Given the description of an element on the screen output the (x, y) to click on. 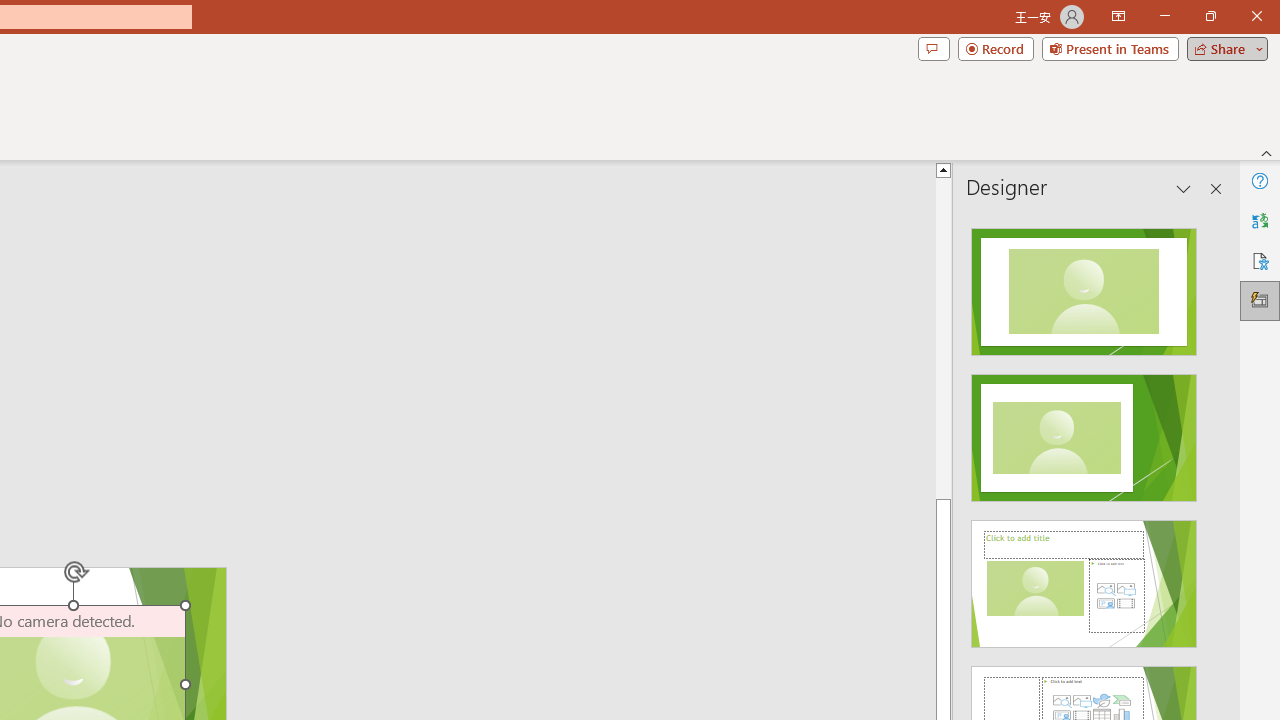
Design Idea (1083, 577)
